Given the description of an element on the screen output the (x, y) to click on. 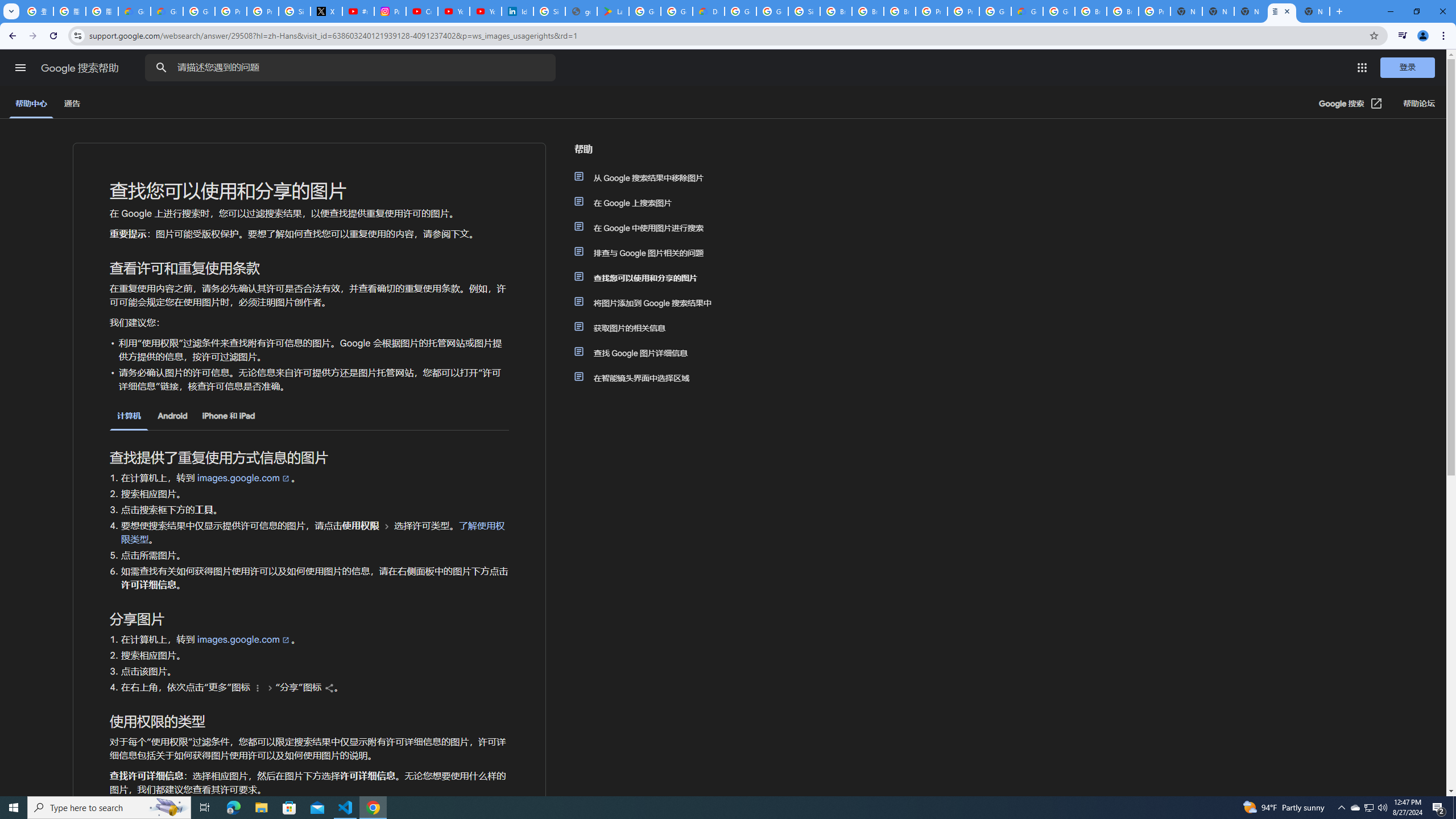
Minimize (1390, 11)
Back (10, 35)
images.google.com (243, 639)
You (1422, 35)
Sign in - Google Accounts (804, 11)
Google Cloud Privacy Notice (134, 11)
